Given the description of an element on the screen output the (x, y) to click on. 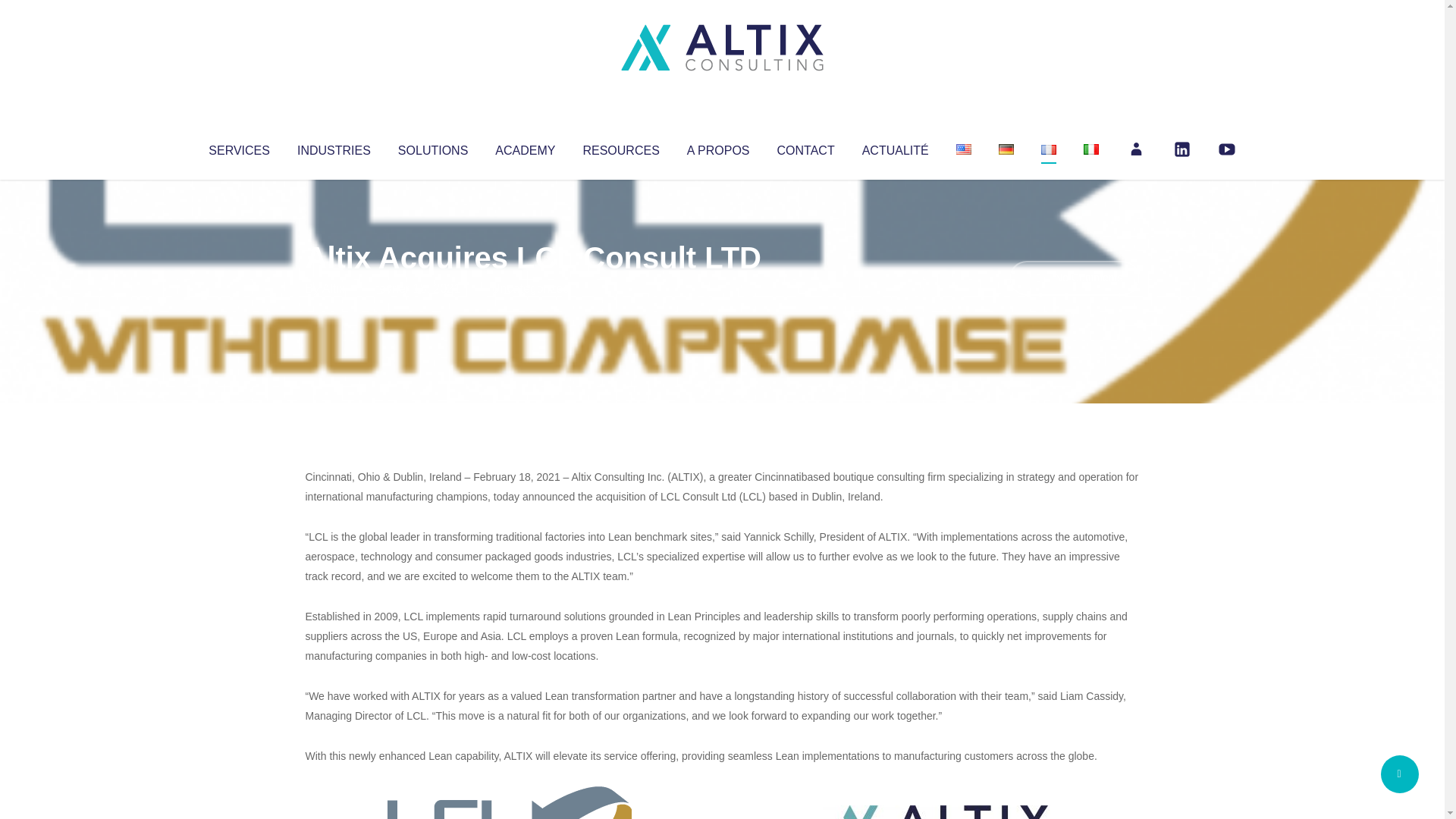
SOLUTIONS (432, 146)
Articles par Altix (333, 287)
RESOURCES (620, 146)
Uncategorized (530, 287)
INDUSTRIES (334, 146)
A PROPOS (718, 146)
No Comments (1073, 278)
ACADEMY (524, 146)
SERVICES (238, 146)
Altix (333, 287)
